Given the description of an element on the screen output the (x, y) to click on. 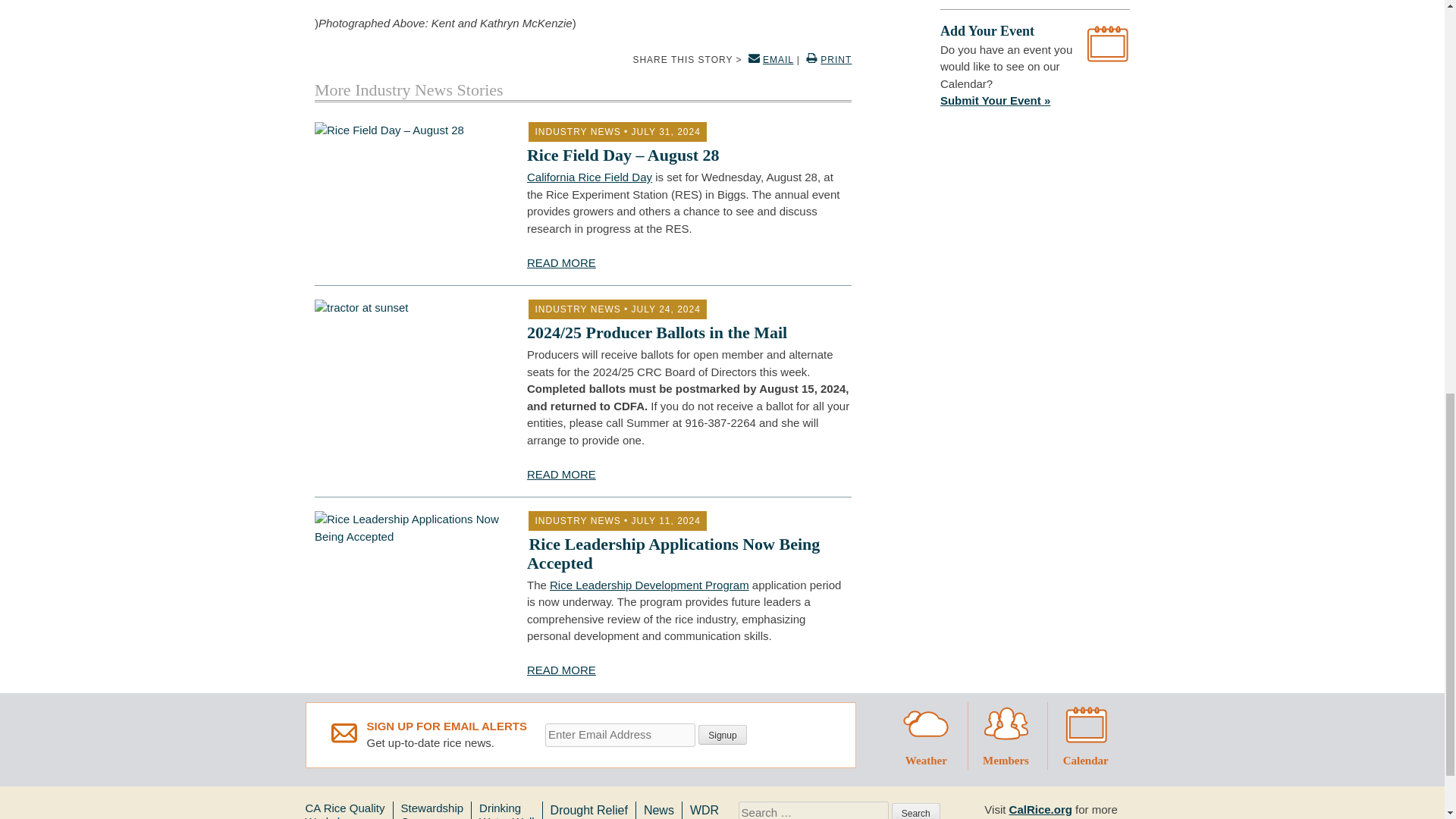
Rice Leadership Applications Now Being Accepted (673, 552)
Search (915, 811)
READ MORE (561, 262)
Email (619, 734)
JULY 31, 2024 (665, 131)
READ MORE (561, 473)
California Rice Field Day (589, 176)
PRINT (827, 59)
JULY 24, 2024 (665, 308)
Search (915, 811)
Rice Leadership Development Program (649, 584)
JULY 11, 2024 (665, 520)
READ MORE (561, 669)
Signup (721, 734)
EMAIL (769, 59)
